Given the description of an element on the screen output the (x, y) to click on. 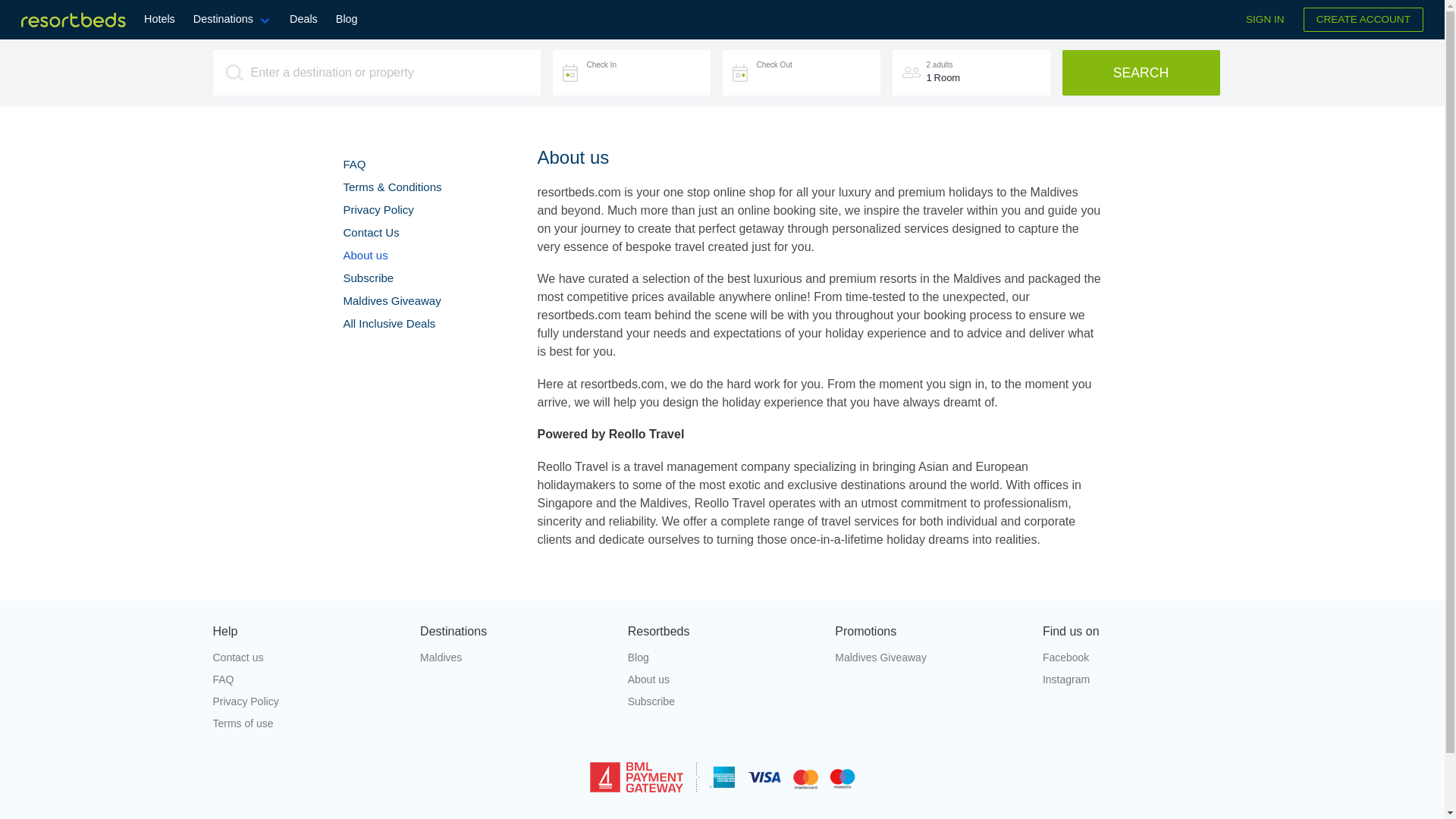
About us (721, 680)
Maldives (515, 658)
Deals (303, 19)
Hotels (159, 19)
Privacy Policy (377, 209)
Terms of use (306, 723)
Contact Us (370, 232)
Blog (721, 658)
CREATE ACCOUNT (1363, 19)
Contact us (306, 658)
Destinations (232, 19)
All Inclusive Deals (388, 323)
FAQ (353, 164)
Maldives Giveaway (391, 300)
Maldives Giveaway (929, 658)
